Given the description of an element on the screen output the (x, y) to click on. 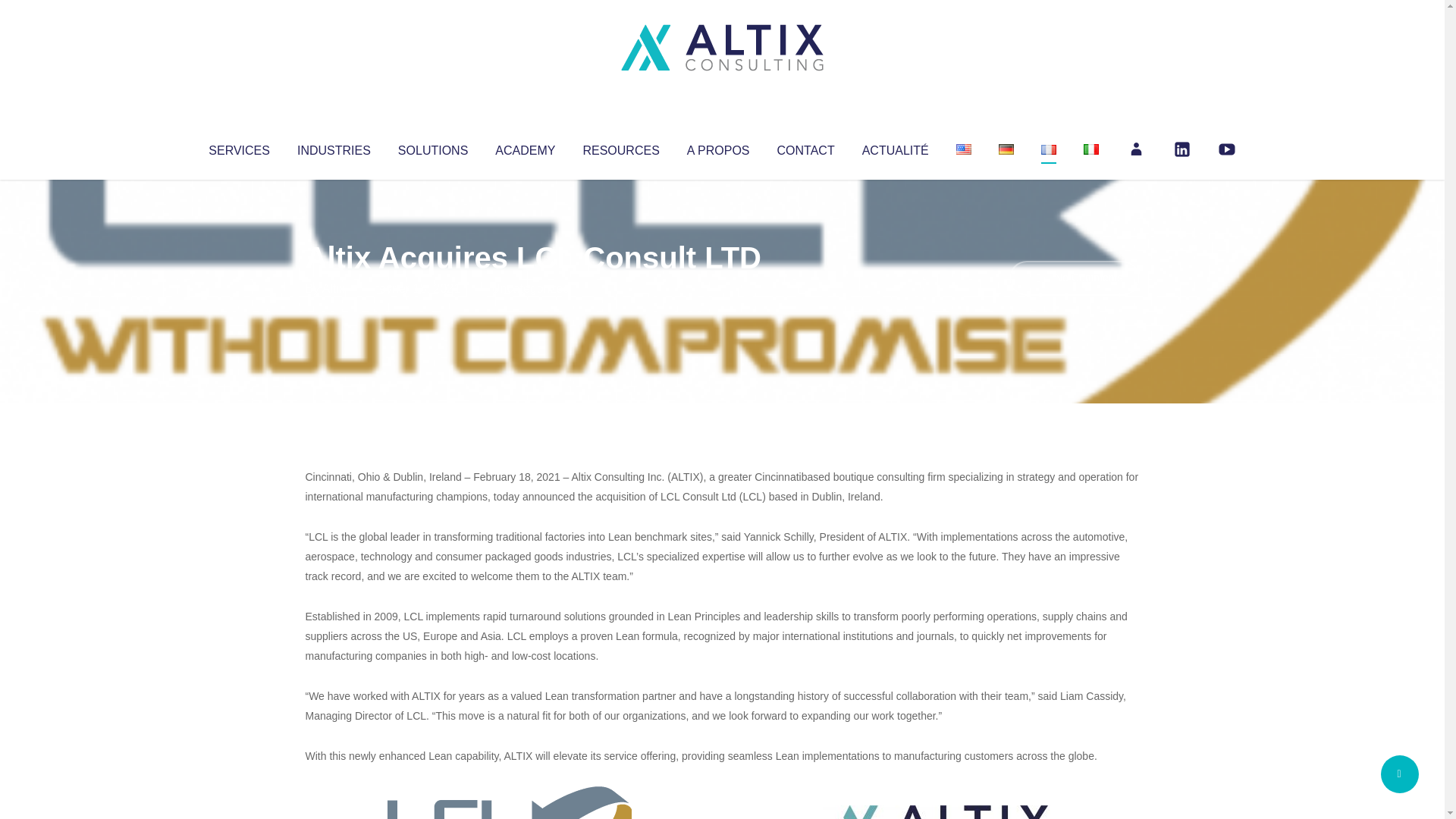
RESOURCES (620, 146)
SOLUTIONS (432, 146)
Articles par Altix (333, 287)
Altix (333, 287)
ACADEMY (524, 146)
SERVICES (238, 146)
INDUSTRIES (334, 146)
Uncategorized (530, 287)
A PROPOS (718, 146)
No Comments (1073, 278)
